Given the description of an element on the screen output the (x, y) to click on. 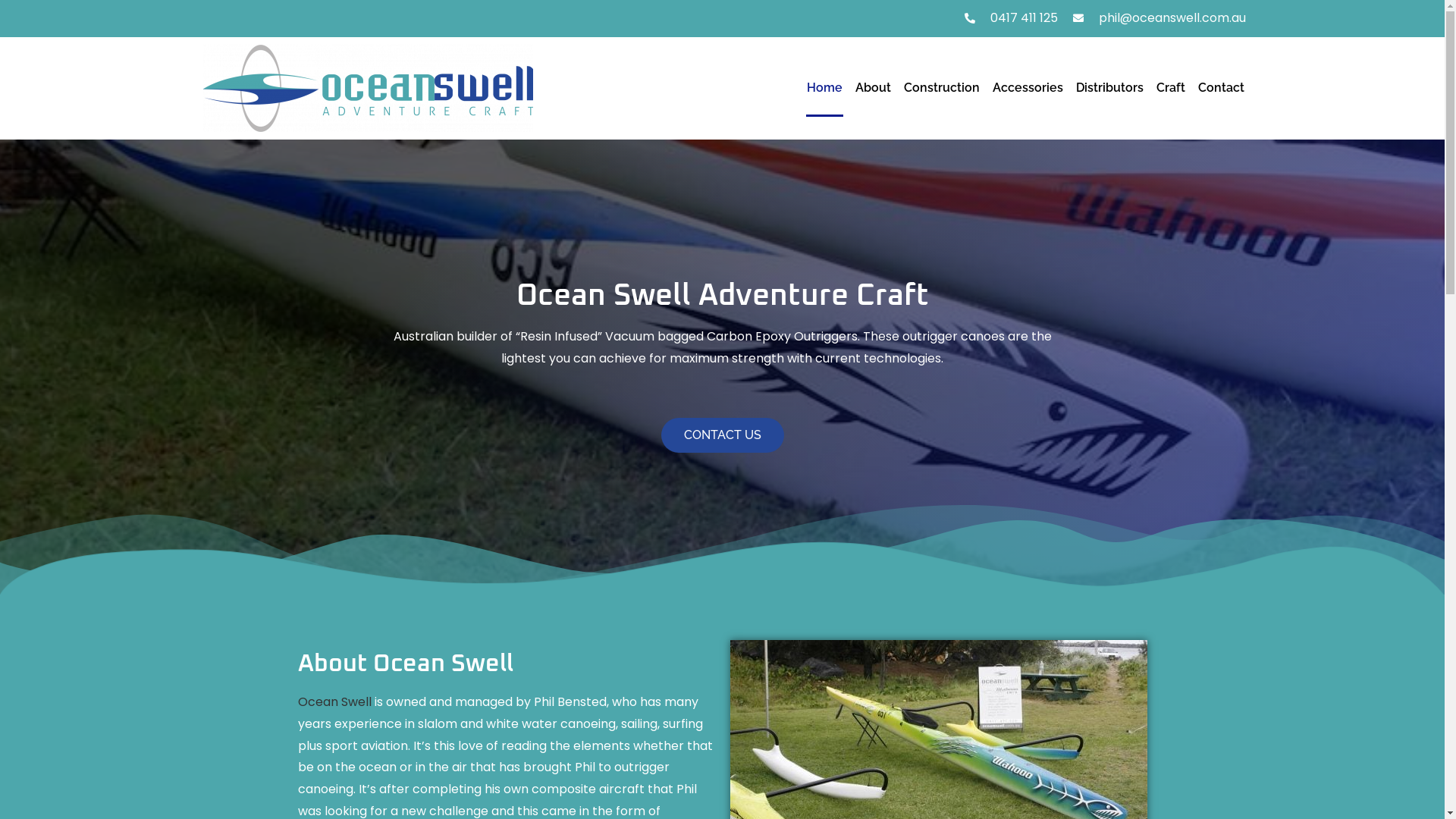
CONTACT US Element type: text (722, 434)
Craft Element type: text (1170, 87)
phil@oceanswell.com.au Element type: text (1157, 18)
Distributors Element type: text (1109, 87)
Construction Element type: text (941, 87)
0417 411 125 Element type: text (1009, 18)
Home Element type: text (824, 87)
Ocean Swell Element type: text (333, 701)
About Element type: text (872, 87)
Contact Element type: text (1221, 87)
Accessories Element type: text (1027, 87)
